Given the description of an element on the screen output the (x, y) to click on. 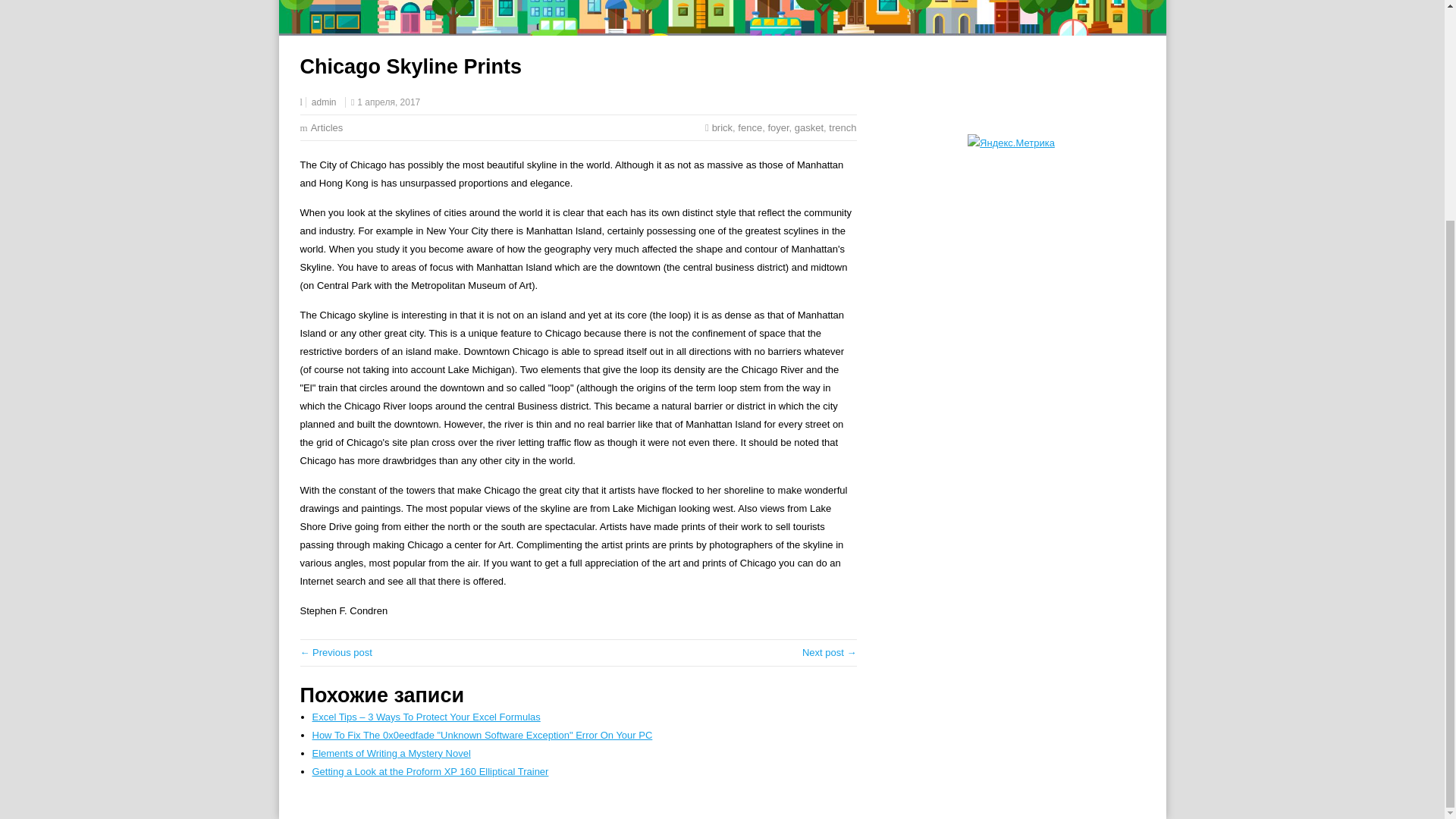
foyer (778, 127)
Getting a Look at the Proform XP 160 Elliptical Trainer (430, 771)
brick (721, 127)
Great Ideas For Urban Apartment Interior Design (335, 652)
admin (323, 102)
fence (749, 127)
trench (842, 127)
DMX Lighting Basics Explained (829, 652)
Elements of Writing a Mystery Novel (391, 753)
